Given the description of an element on the screen output the (x, y) to click on. 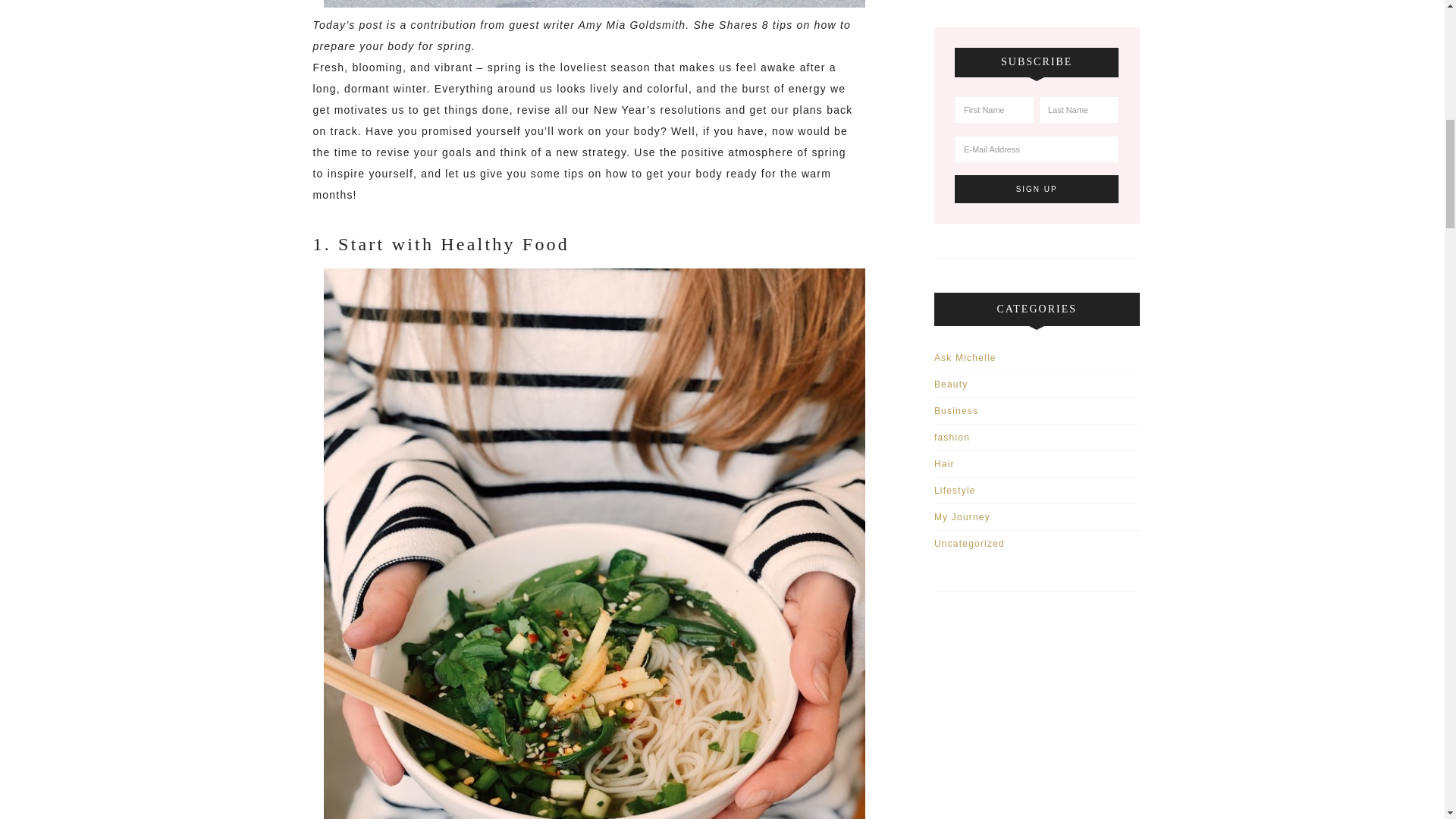
SIGN UP (1037, 189)
Ask Michelle (964, 357)
Lifestyle (954, 490)
Business (956, 410)
Hair (944, 463)
SIGN UP (1037, 189)
Beauty (951, 384)
fashion (951, 437)
